Given the description of an element on the screen output the (x, y) to click on. 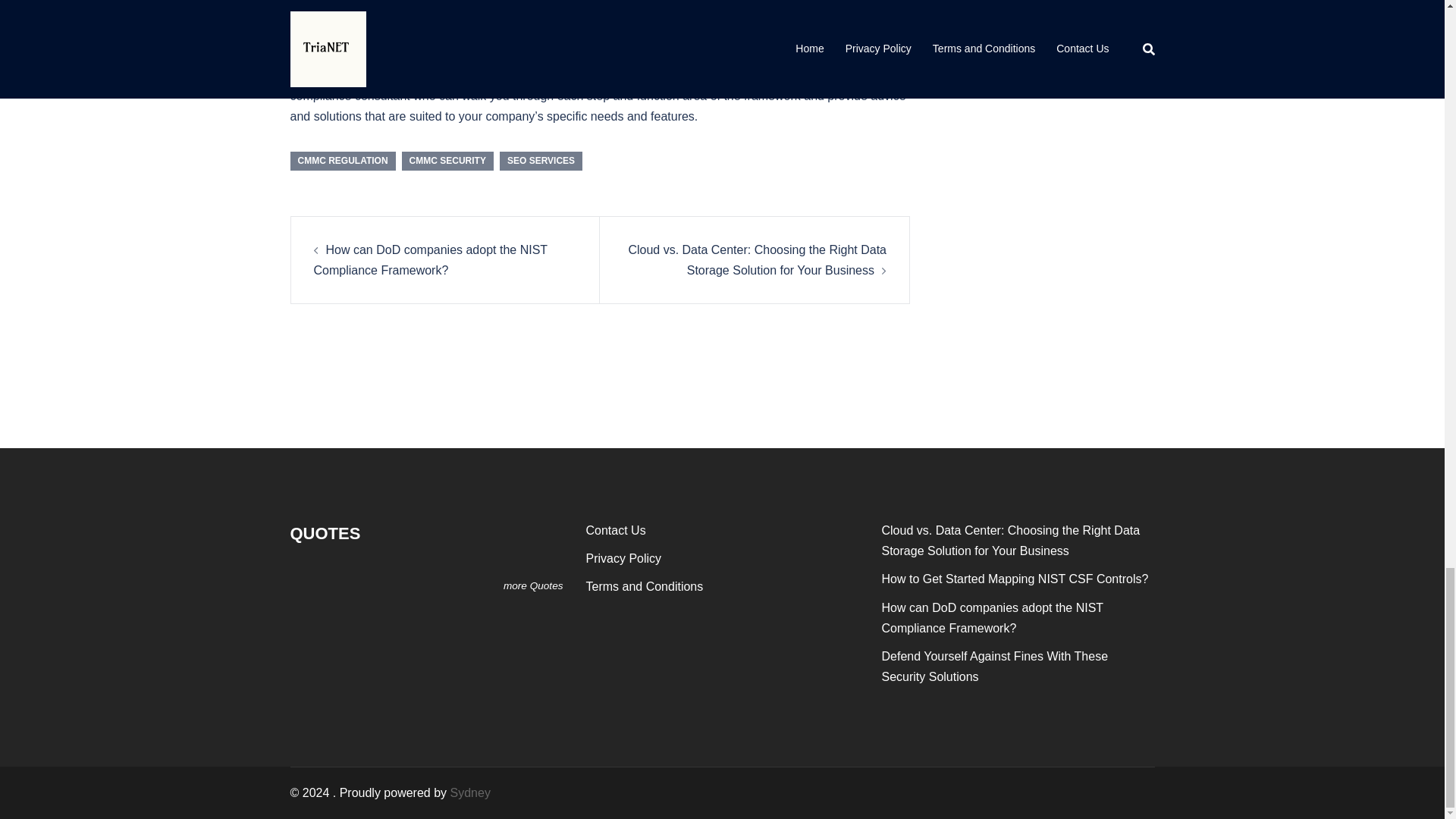
CMMC SECURITY (447, 160)
CMMC regulation (444, 15)
SEO SERVICES (540, 160)
CMMC REGULATION (341, 160)
more Quotes (533, 585)
How can DoD companies adopt the NIST Compliance Framework? (430, 259)
